Given the description of an element on the screen output the (x, y) to click on. 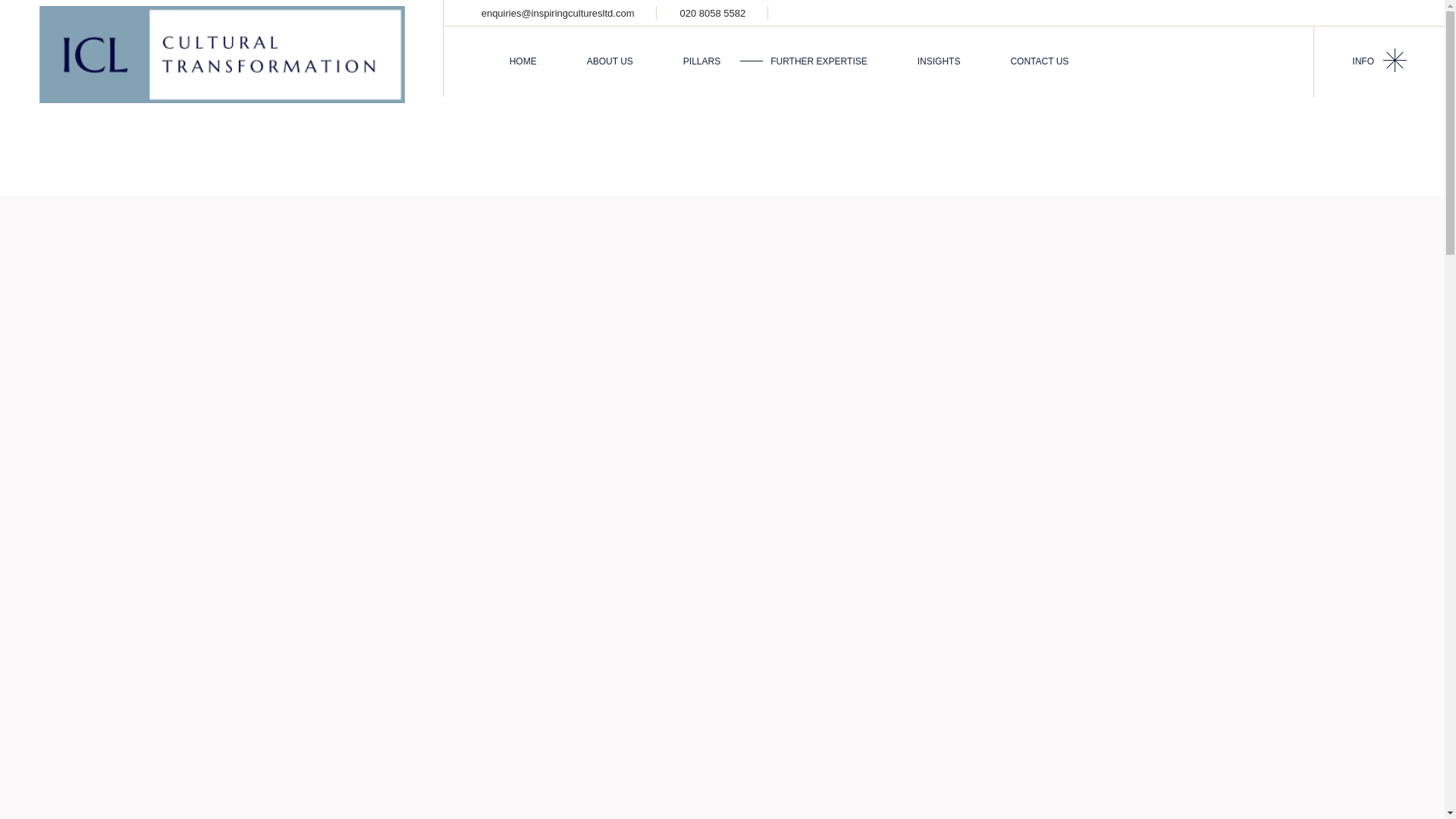
INFO (1379, 61)
020 8058 5582 (712, 12)
FURTHER EXPERTISE (818, 61)
